Given the description of an element on the screen output the (x, y) to click on. 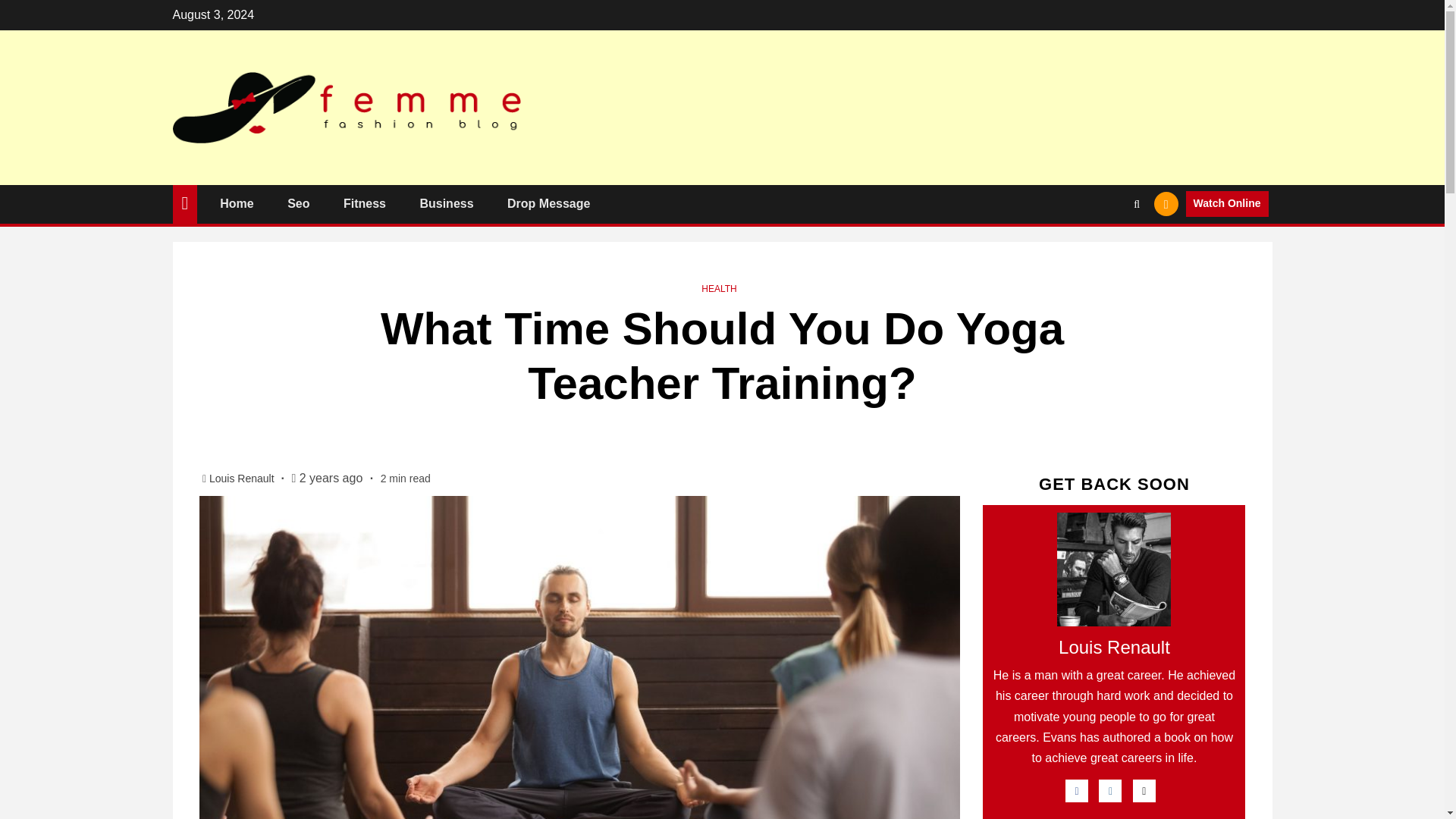
Drop Message (547, 203)
HEALTH (718, 288)
Fitness (364, 203)
Search (1106, 249)
Louis Renault (243, 478)
Business (446, 203)
Seo (297, 203)
Watch Online (1227, 203)
Home (236, 203)
